Given the description of an element on the screen output the (x, y) to click on. 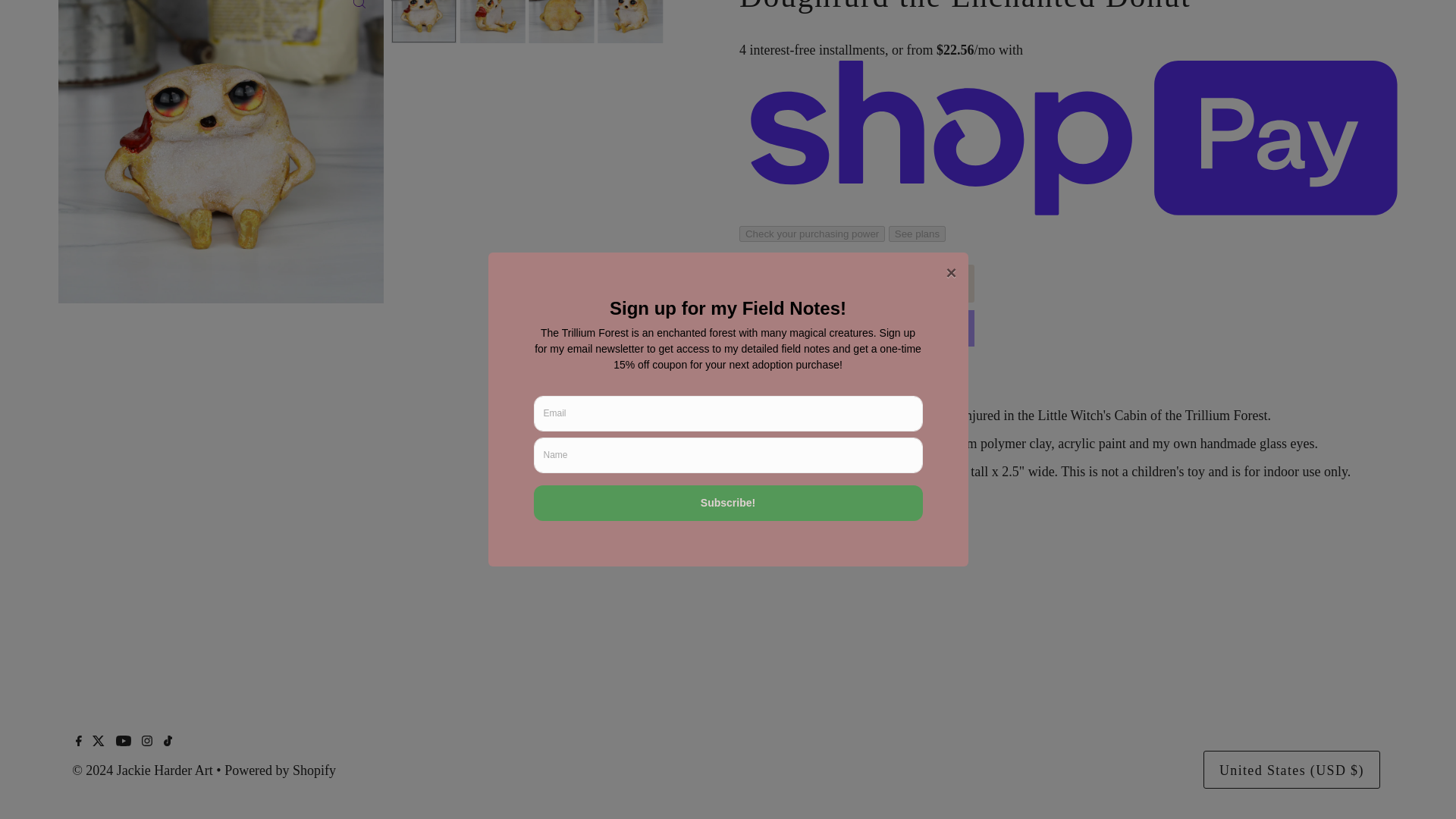
Click to zoom (358, 9)
Sold Out (856, 283)
